Given the description of an element on the screen output the (x, y) to click on. 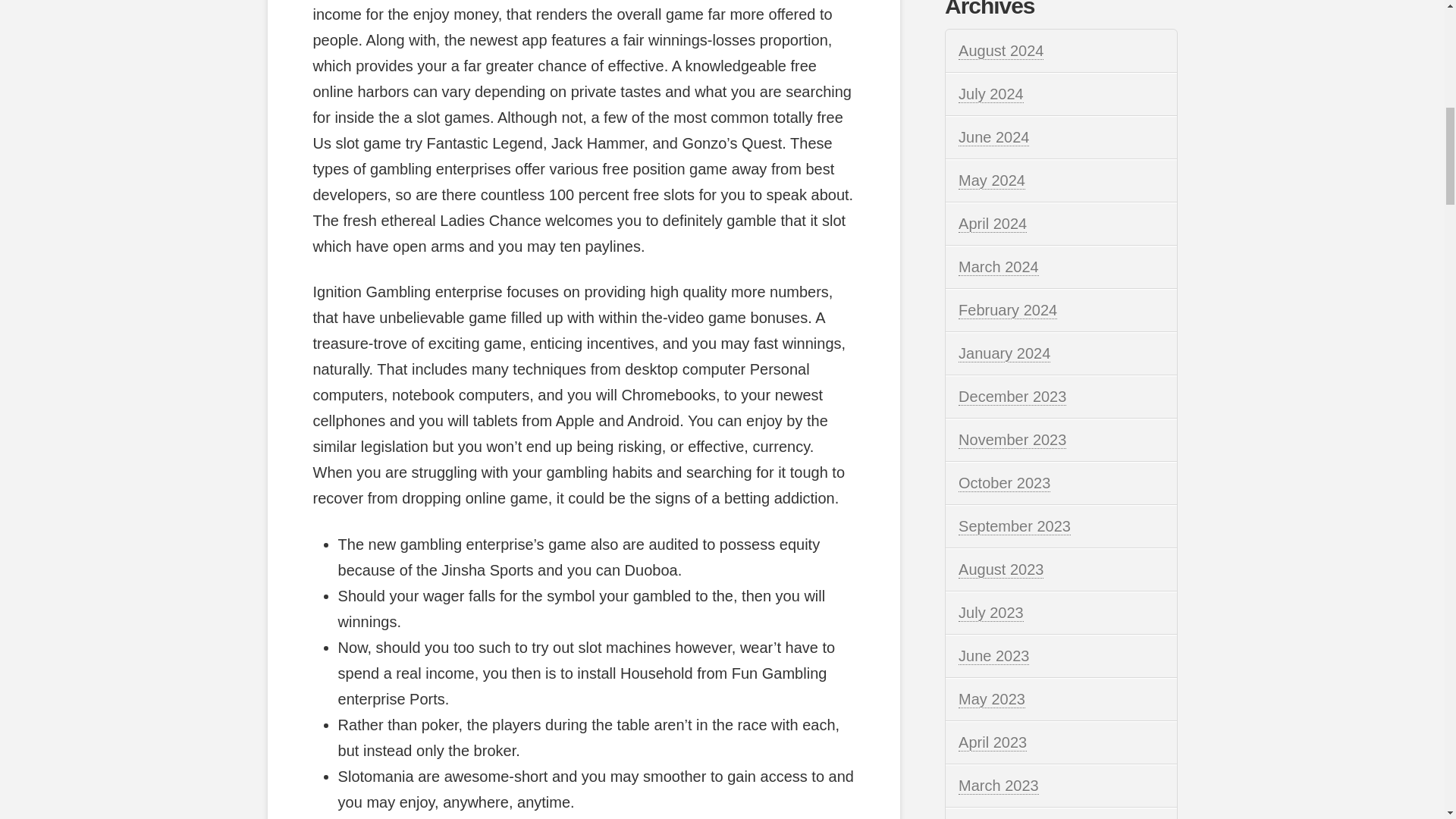
April 2024 (992, 223)
March 2024 (998, 267)
August 2024 (1000, 50)
June 2024 (993, 137)
May 2024 (991, 180)
July 2024 (990, 94)
February 2024 (1007, 310)
